Given the description of an element on the screen output the (x, y) to click on. 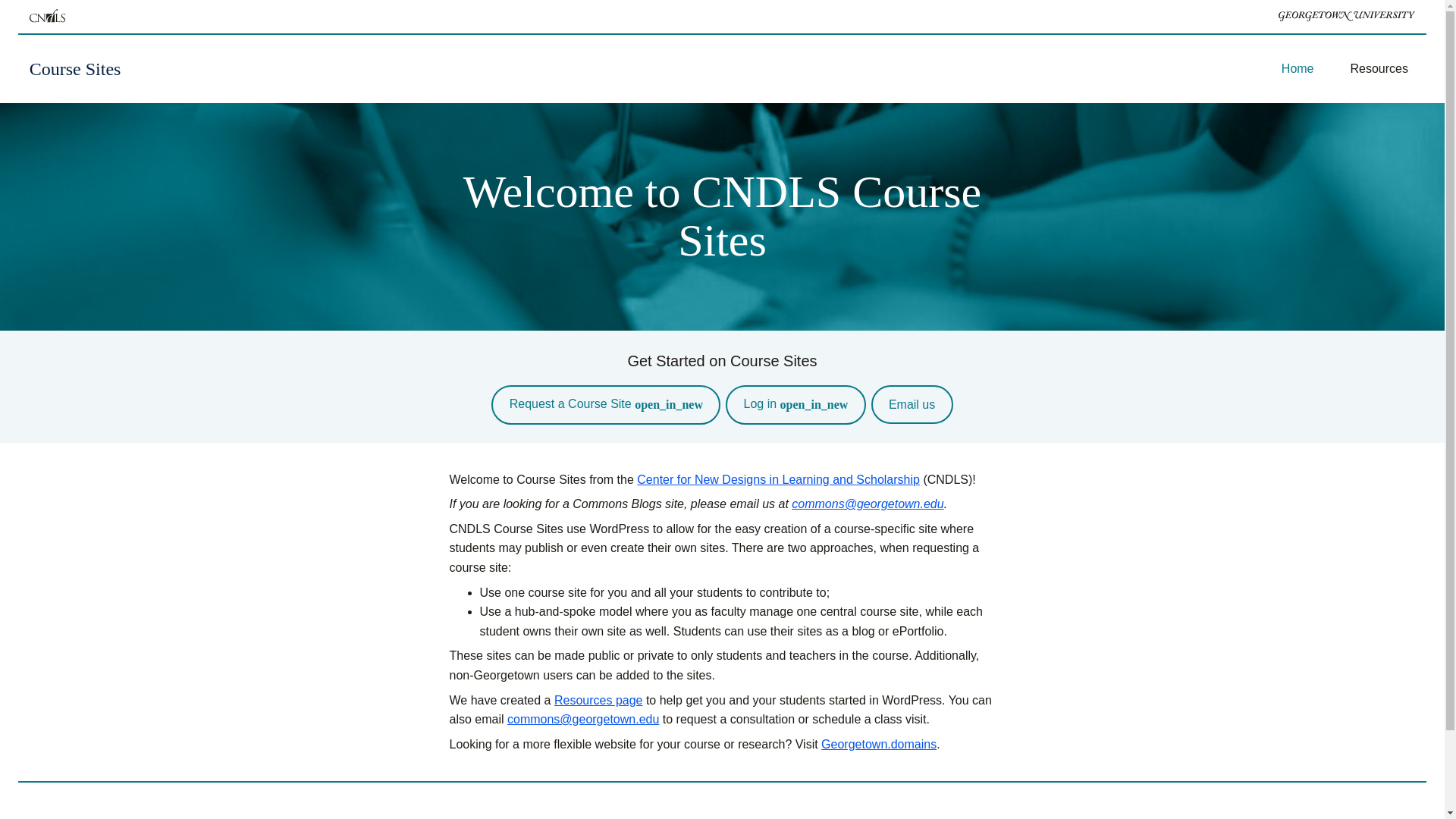
Resources (1379, 68)
Resources page (598, 699)
Email us (911, 404)
Center for New Designs in Learning and Scholarship (778, 479)
Home (1297, 68)
Georgetown.domains (878, 744)
Course Sites (74, 68)
